Given the description of an element on the screen output the (x, y) to click on. 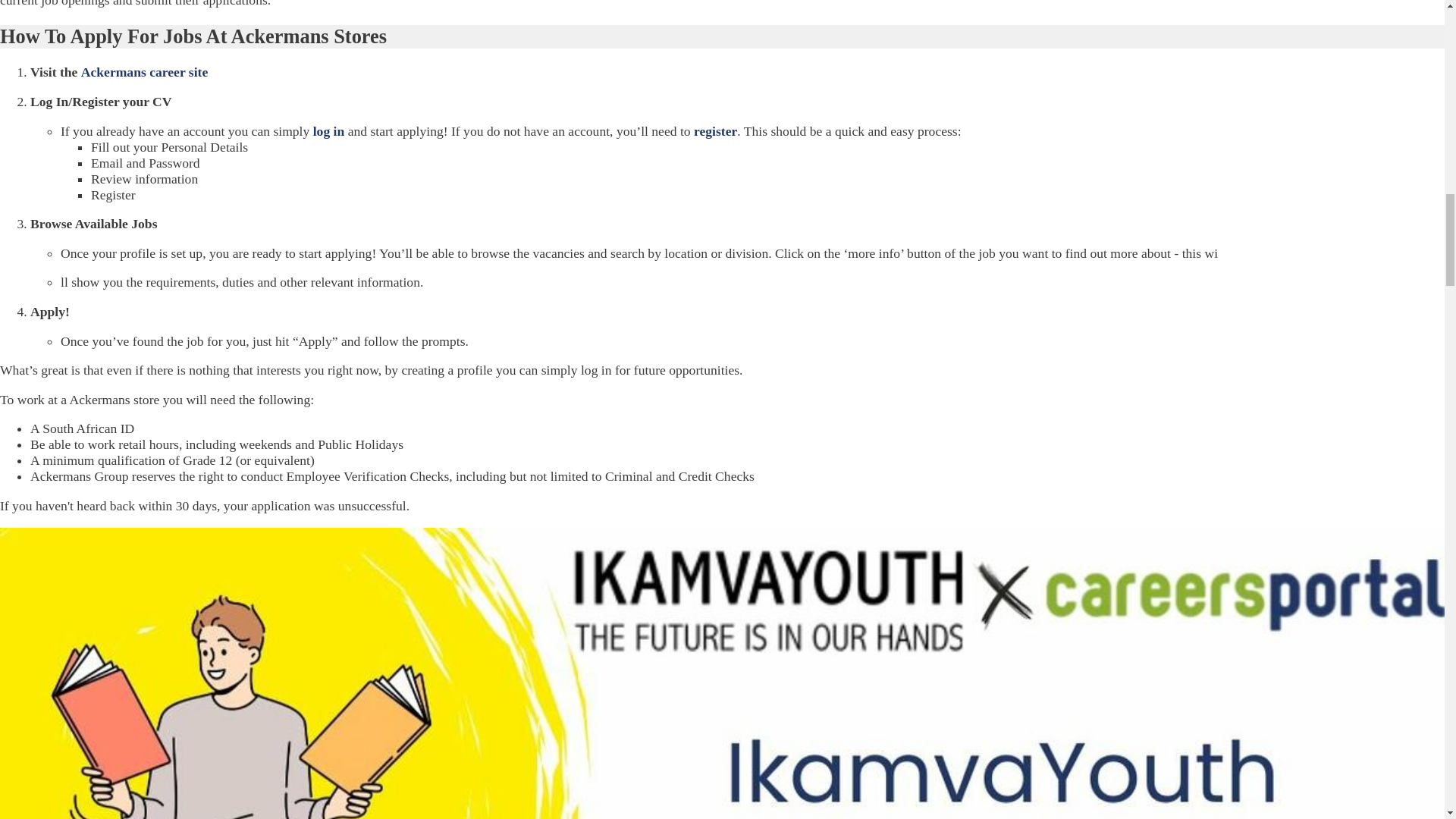
register (715, 130)
Ackermans career site (144, 71)
log in (329, 130)
